Given the description of an element on the screen output the (x, y) to click on. 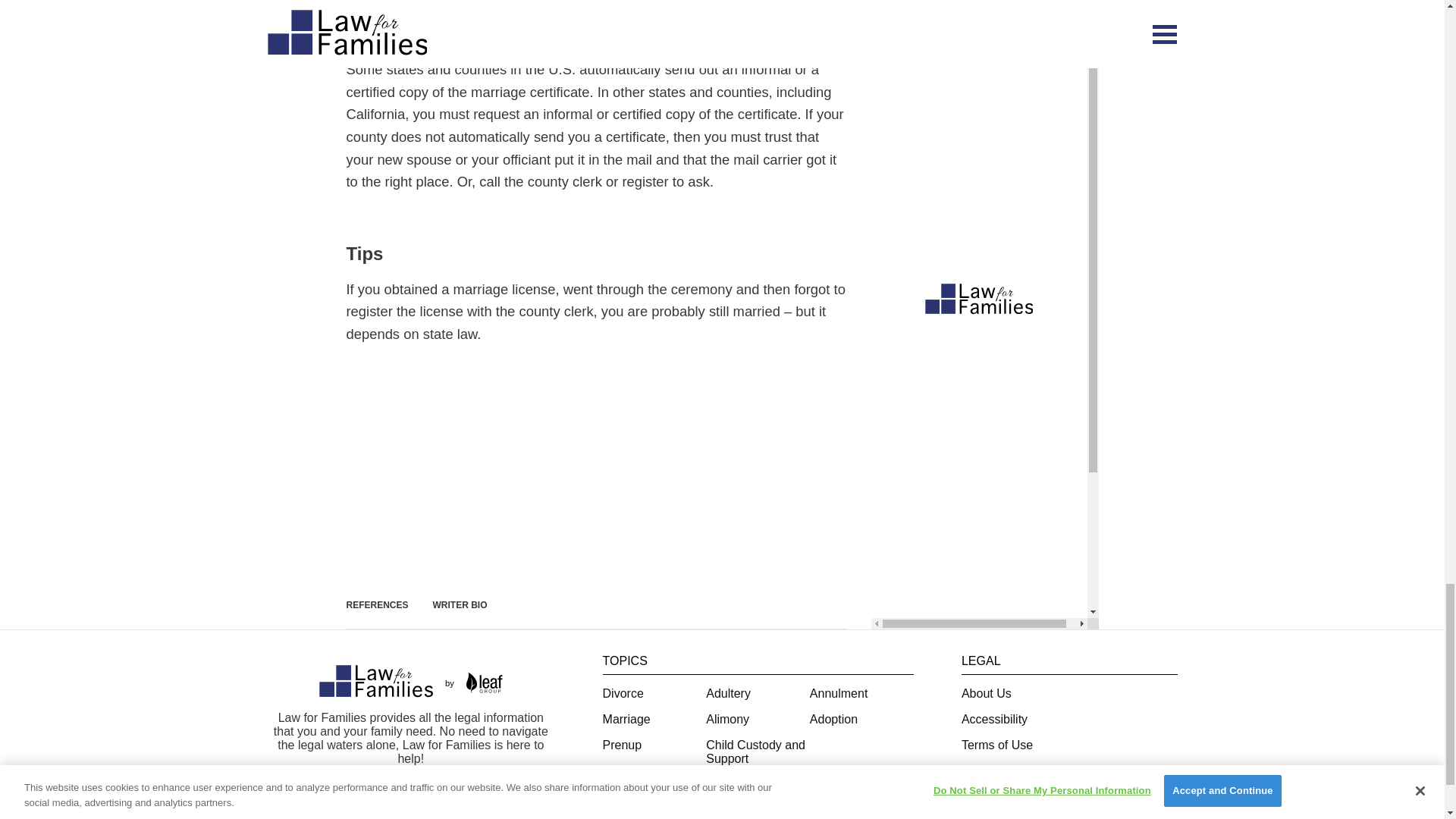
Terms of Use (996, 744)
Child Custody and Support (755, 751)
Accessibility (993, 718)
About Us (985, 693)
Marriage (626, 718)
Annulment (838, 693)
Prenup (622, 744)
Group 2 Created with Sketch. (375, 681)
Adoption (833, 718)
Alimony (727, 718)
Privacy Policy (998, 770)
Divorce (622, 693)
Adultery (728, 693)
Copyright Policy (1004, 796)
